Given the description of an element on the screen output the (x, y) to click on. 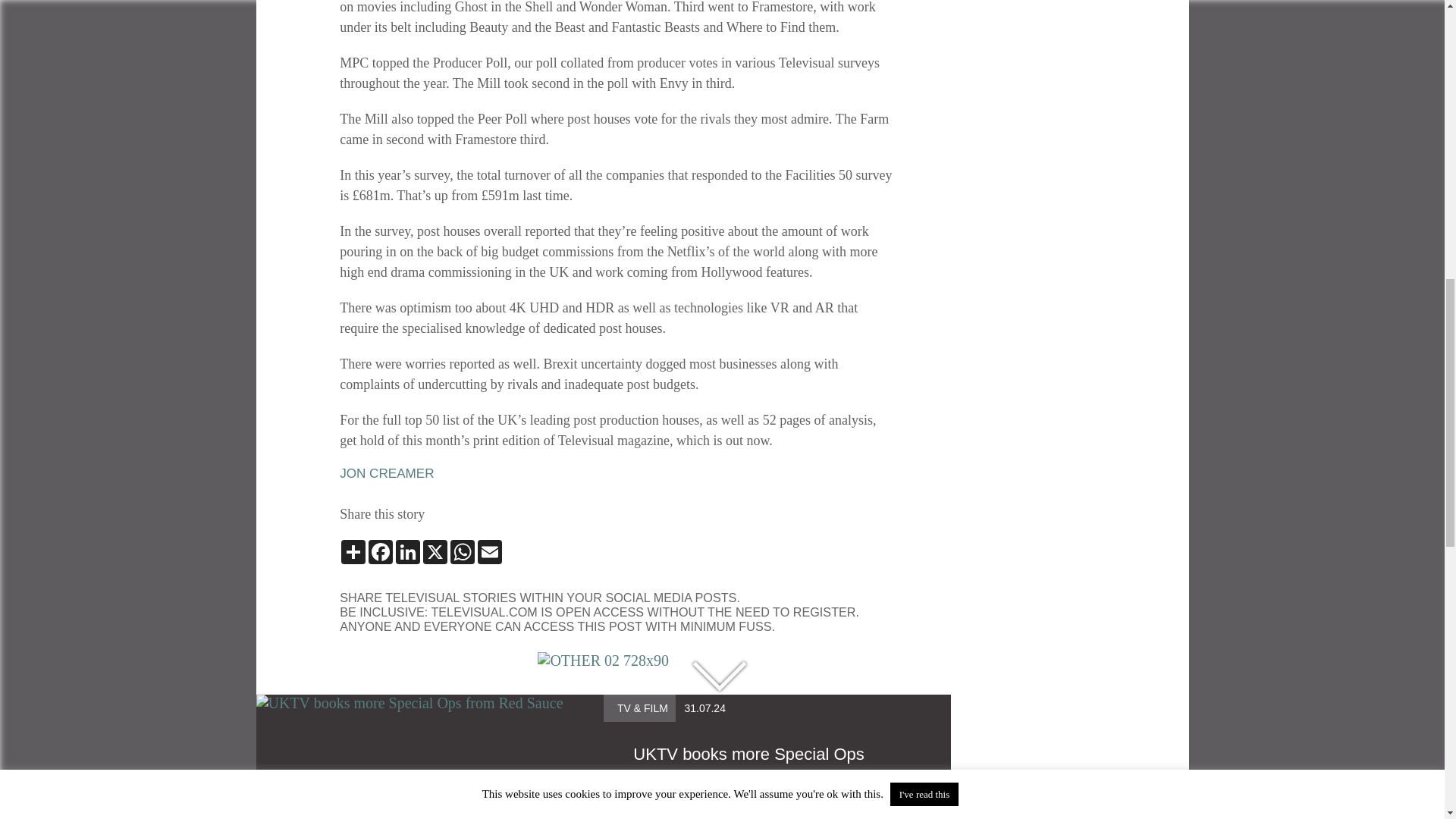
JON CREAMER (386, 473)
X (435, 552)
Email (489, 552)
Facebook (380, 552)
LinkedIn (408, 552)
WhatsApp (462, 552)
